Given the description of an element on the screen output the (x, y) to click on. 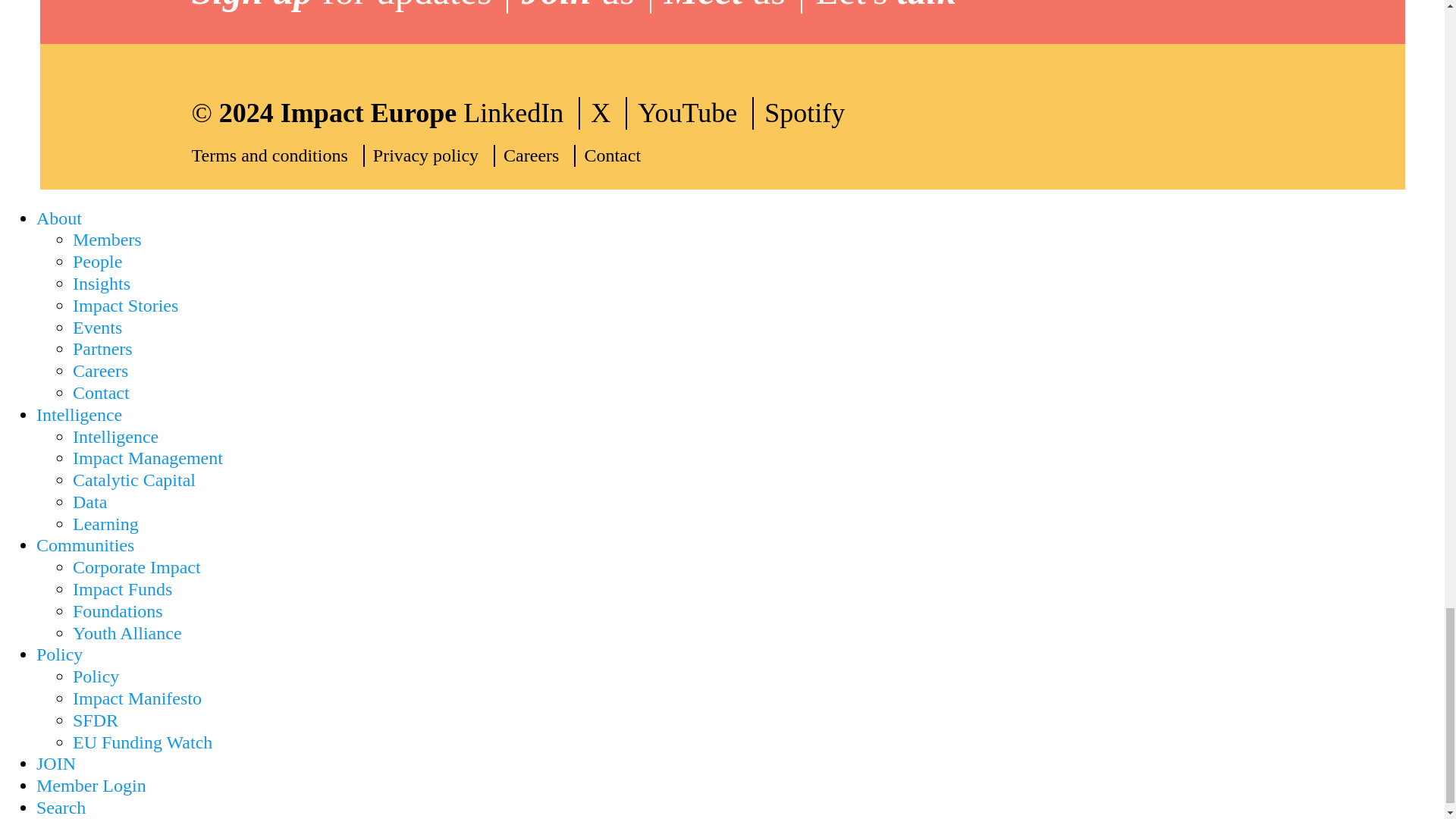
Impact Europe Members (106, 239)
Enabling Policies (59, 654)
Meet us (732, 6)
Join Impact Europe (55, 763)
X (609, 113)
LinkedIn (521, 113)
Join us (585, 6)
Sign up for updates (349, 6)
Let's talk (893, 6)
